Given the description of an element on the screen output the (x, y) to click on. 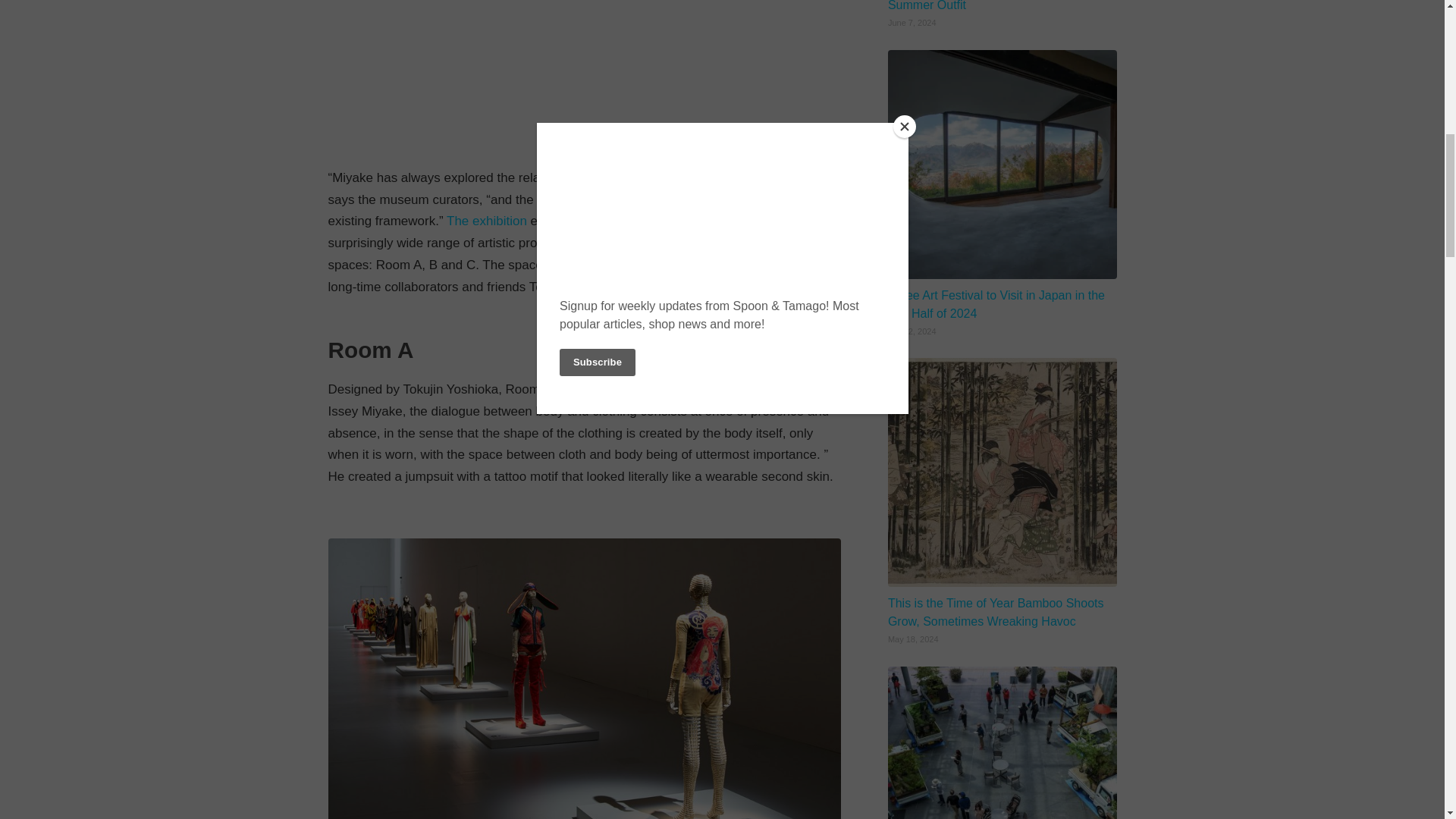
The exhibition (486, 220)
